Given the description of an element on the screen output the (x, y) to click on. 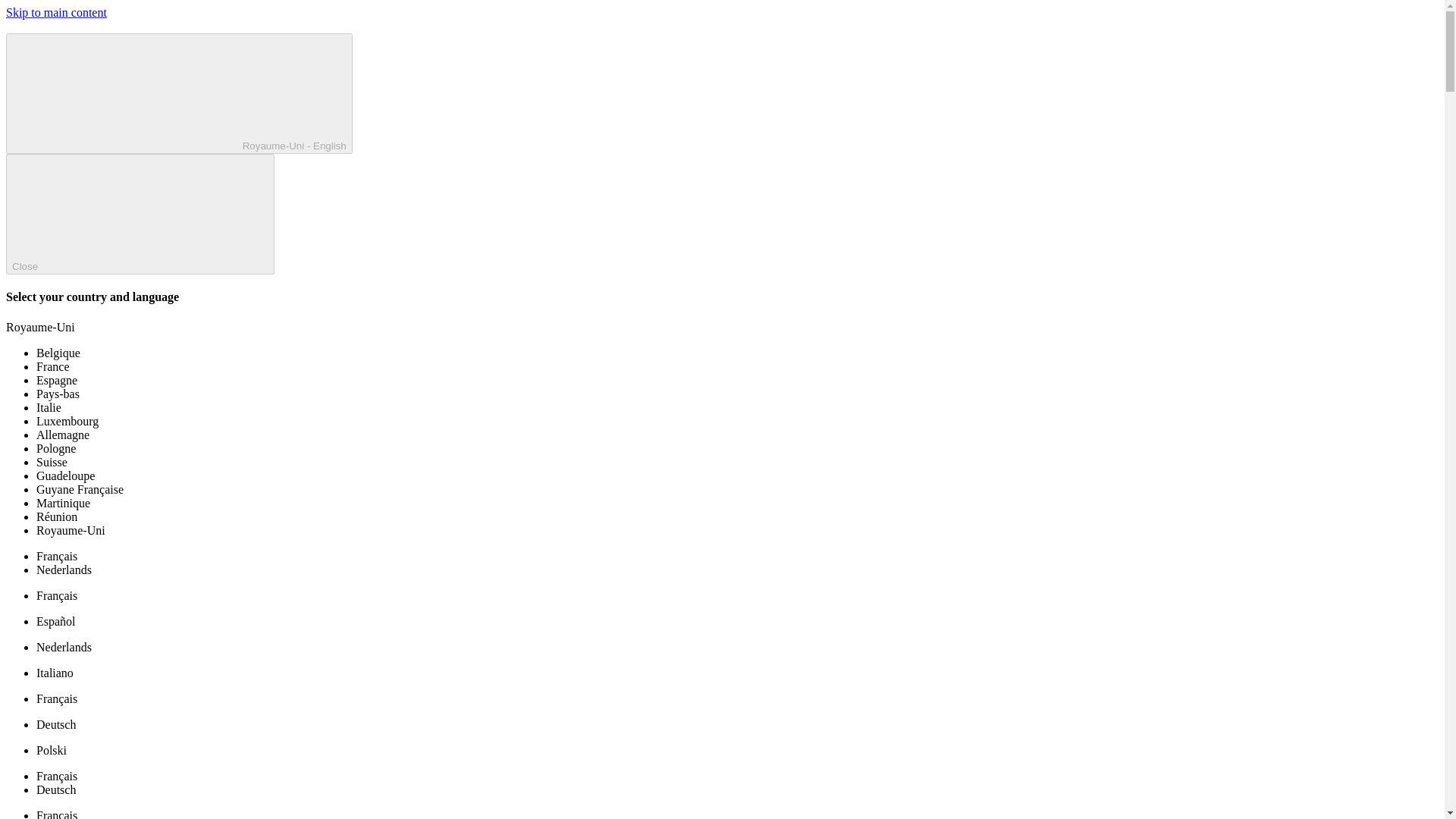
Skip to main content (55, 11)
Royaume-Uni - English (178, 93)
Close (140, 213)
